Given the description of an element on the screen output the (x, y) to click on. 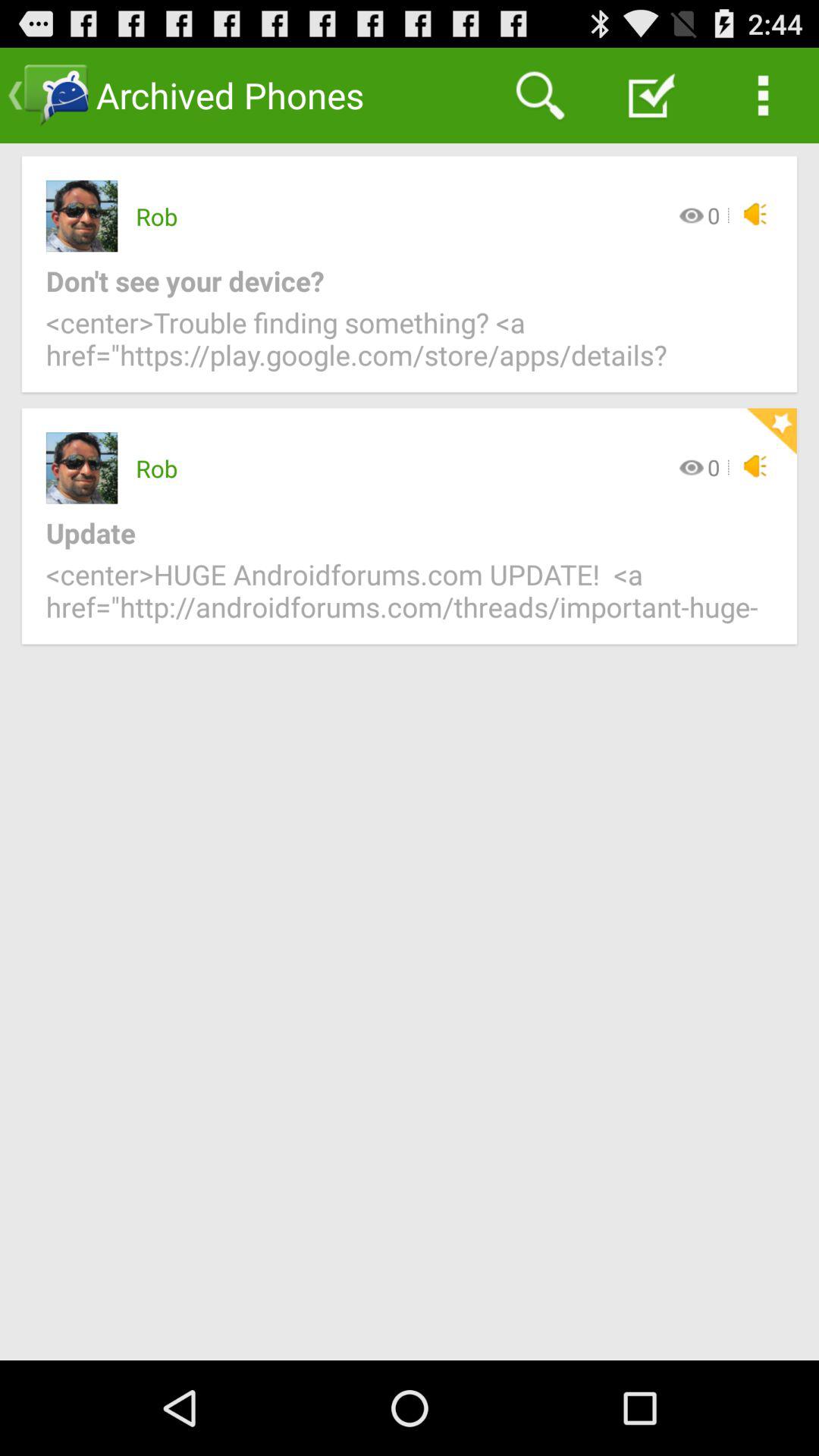
click item below update item (409, 599)
